Given the description of an element on the screen output the (x, y) to click on. 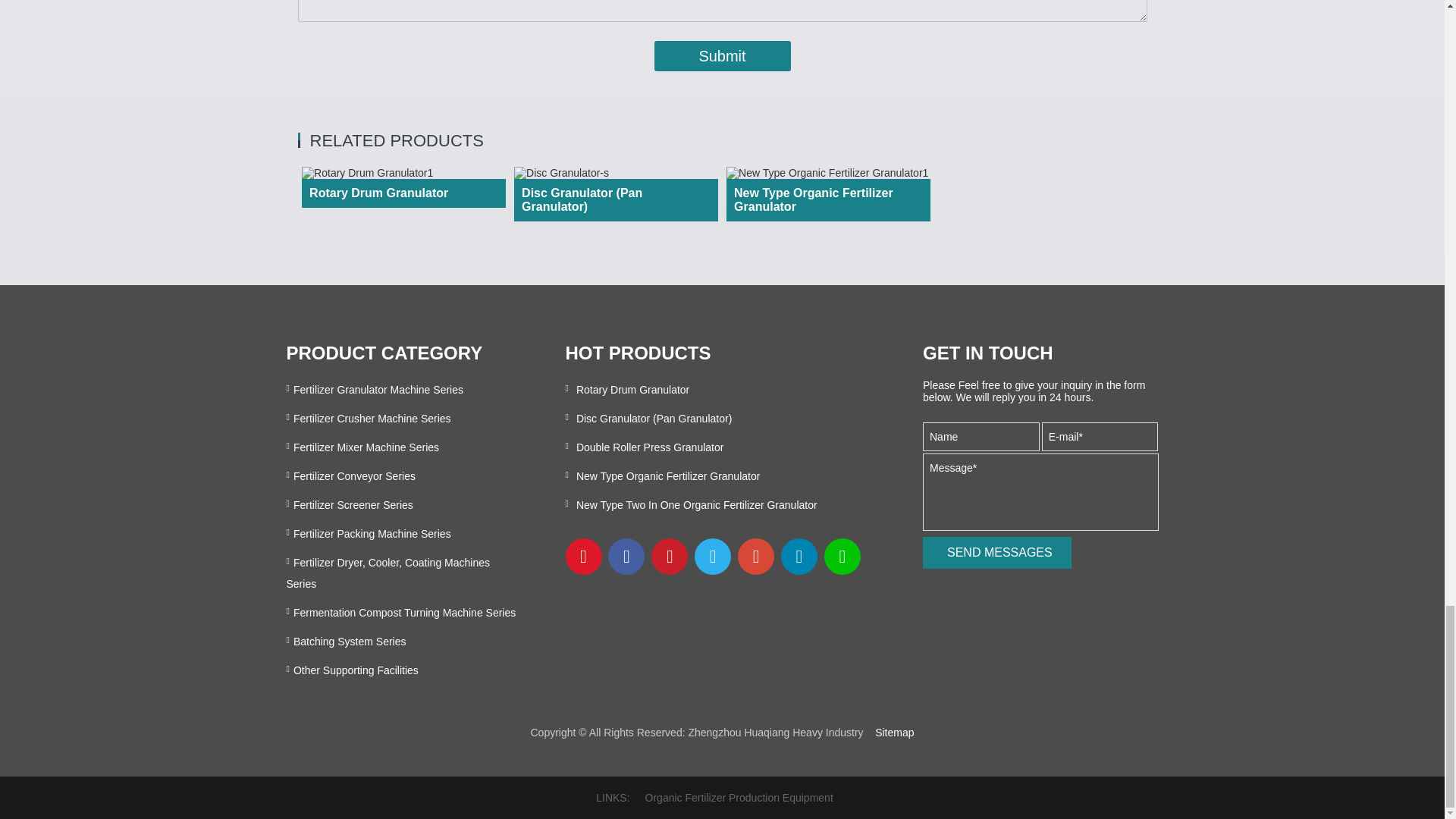
Submit (721, 55)
